Given the description of an element on the screen output the (x, y) to click on. 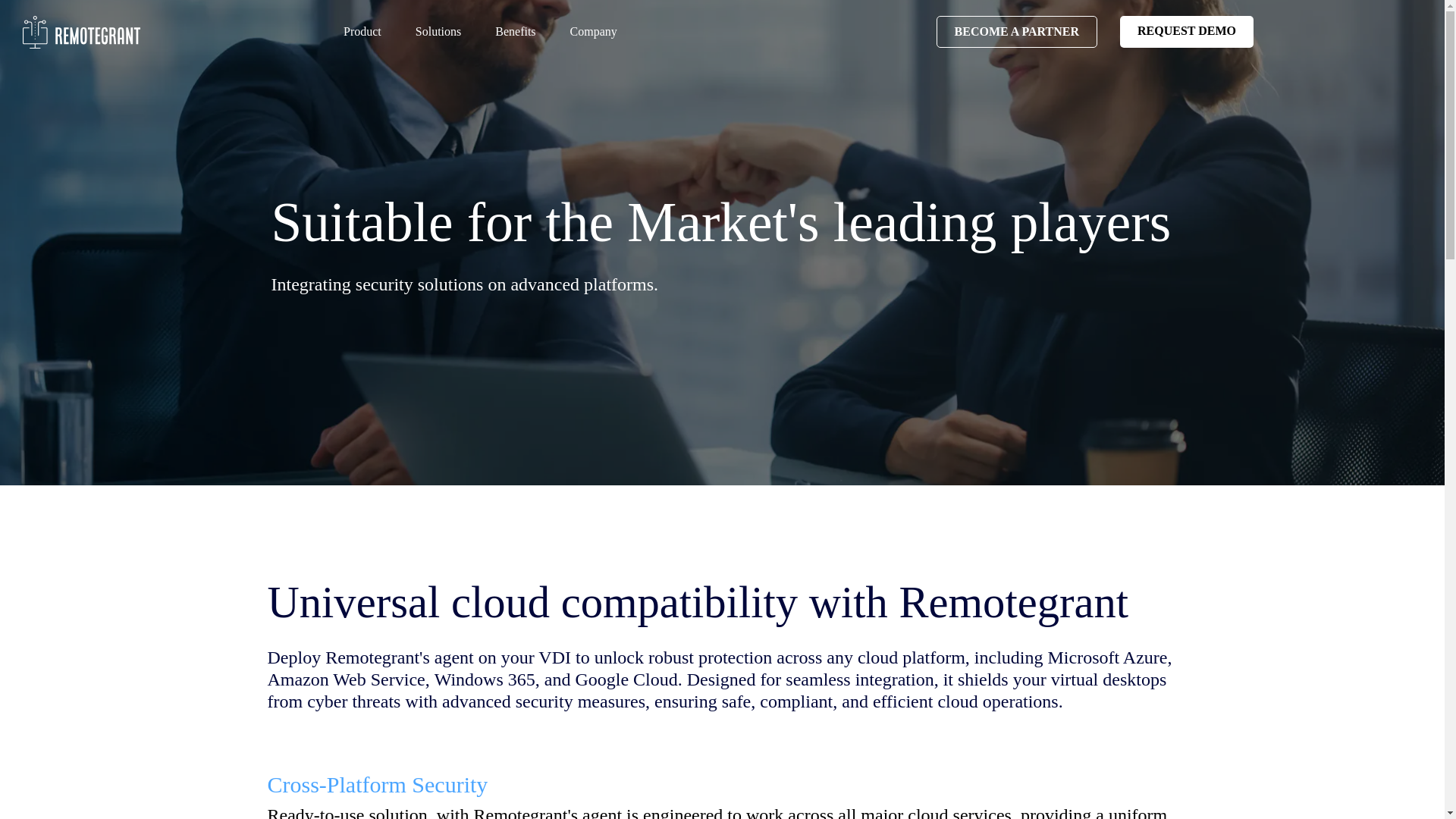
REQUEST DEMO (1186, 31)
Go to home page (82, 31)
BECOME A PARTNER (1016, 31)
